Given the description of an element on the screen output the (x, y) to click on. 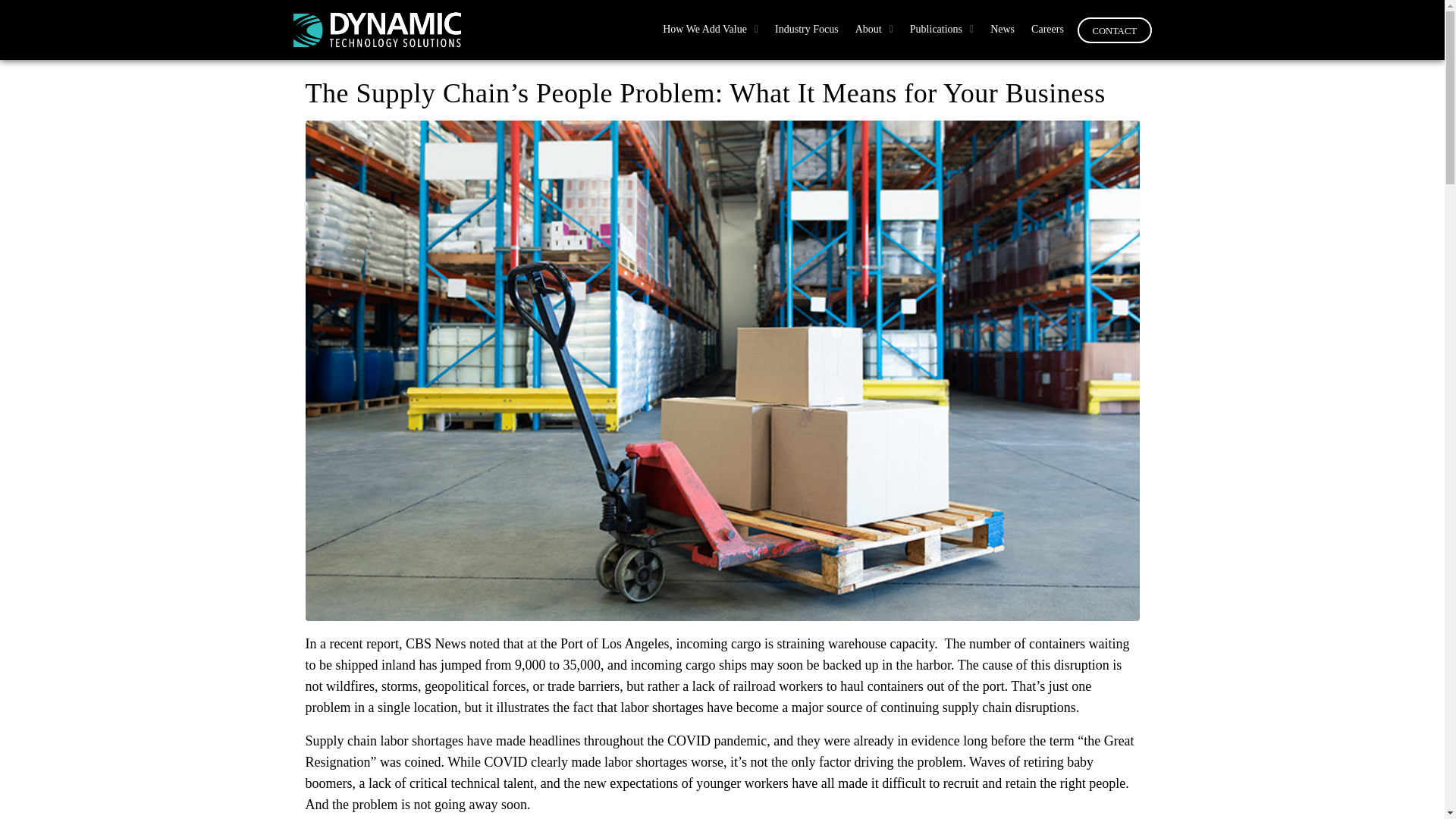
How We Add Value (710, 29)
CONTACT (1114, 30)
Industry Focus (807, 29)
Careers (1047, 29)
About (874, 29)
News (1002, 29)
Publications (941, 29)
